Given the description of an element on the screen output the (x, y) to click on. 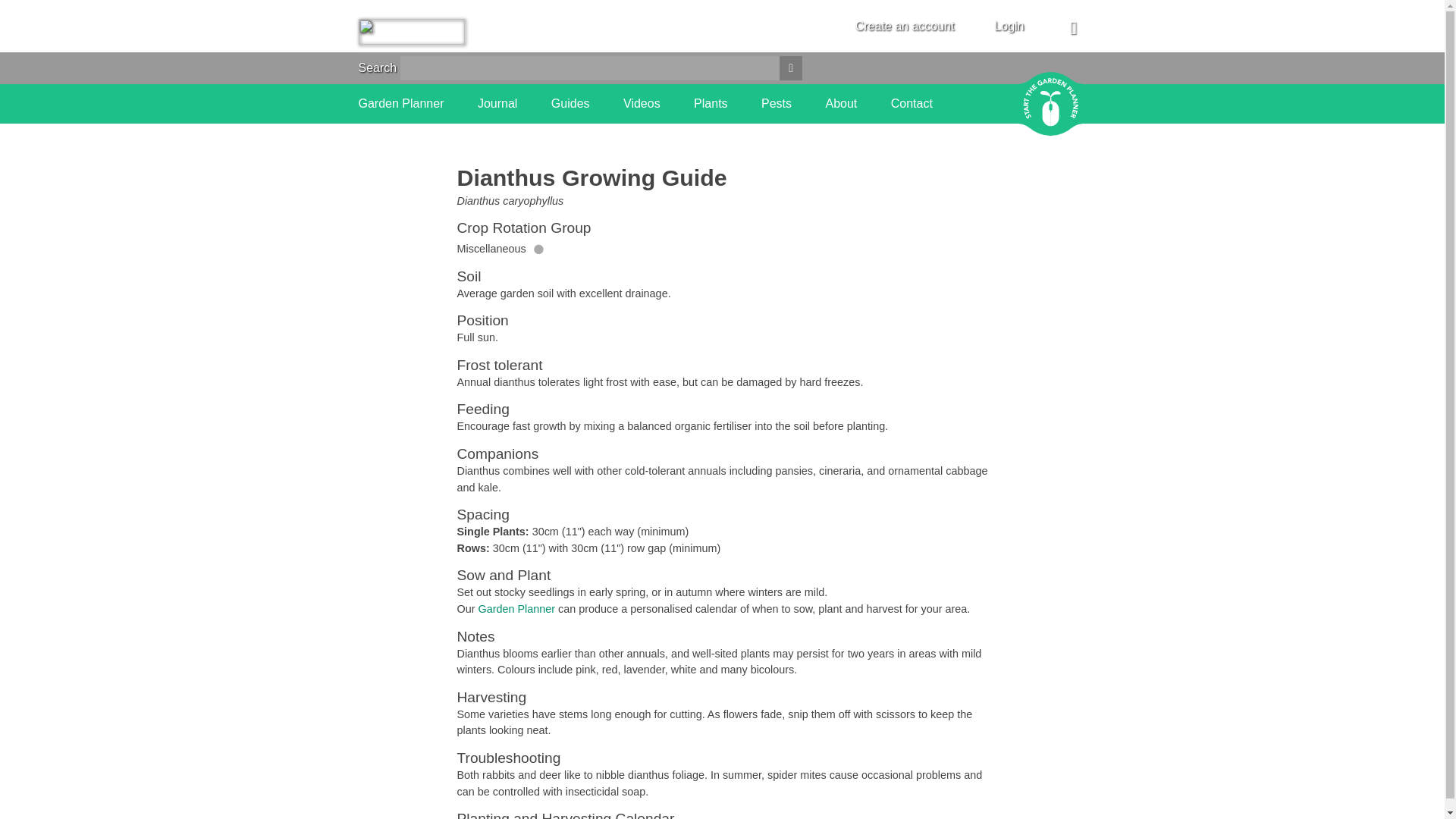
Journal (496, 103)
Create an account (905, 25)
About (841, 103)
Pests (776, 103)
Contact (912, 103)
Videos (642, 103)
Plants (710, 103)
Guides (570, 103)
Garden Planner (515, 608)
Login (1008, 25)
Garden Planner (401, 103)
